Given the description of an element on the screen output the (x, y) to click on. 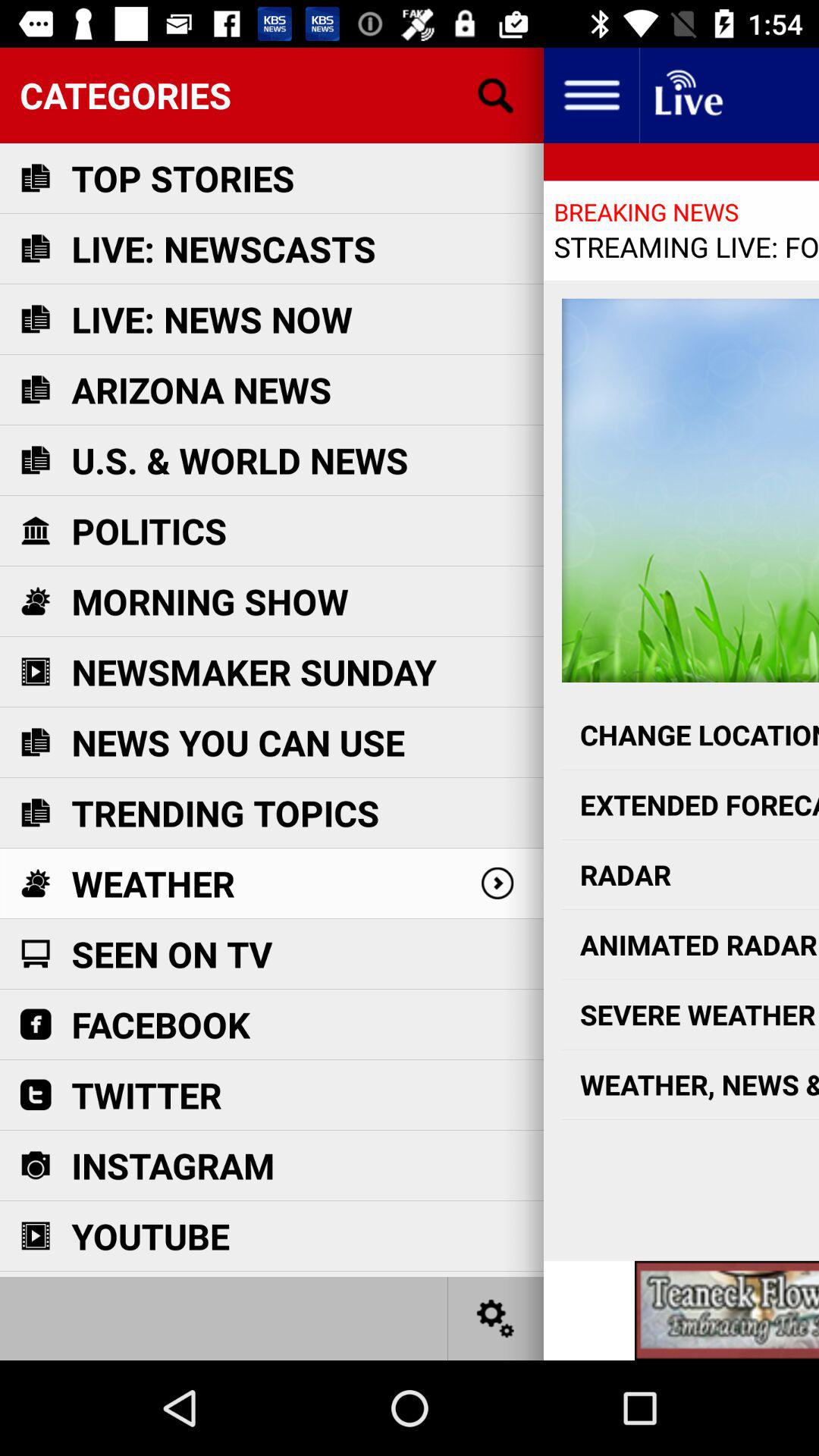
select the icon which is beside the us  world news (35, 460)
go to the radar (690, 875)
click the news you can use icon (35, 742)
select the logo which is beside menu icon (687, 95)
select the icon which is beside seen on tv (35, 953)
